Given the description of an element on the screen output the (x, y) to click on. 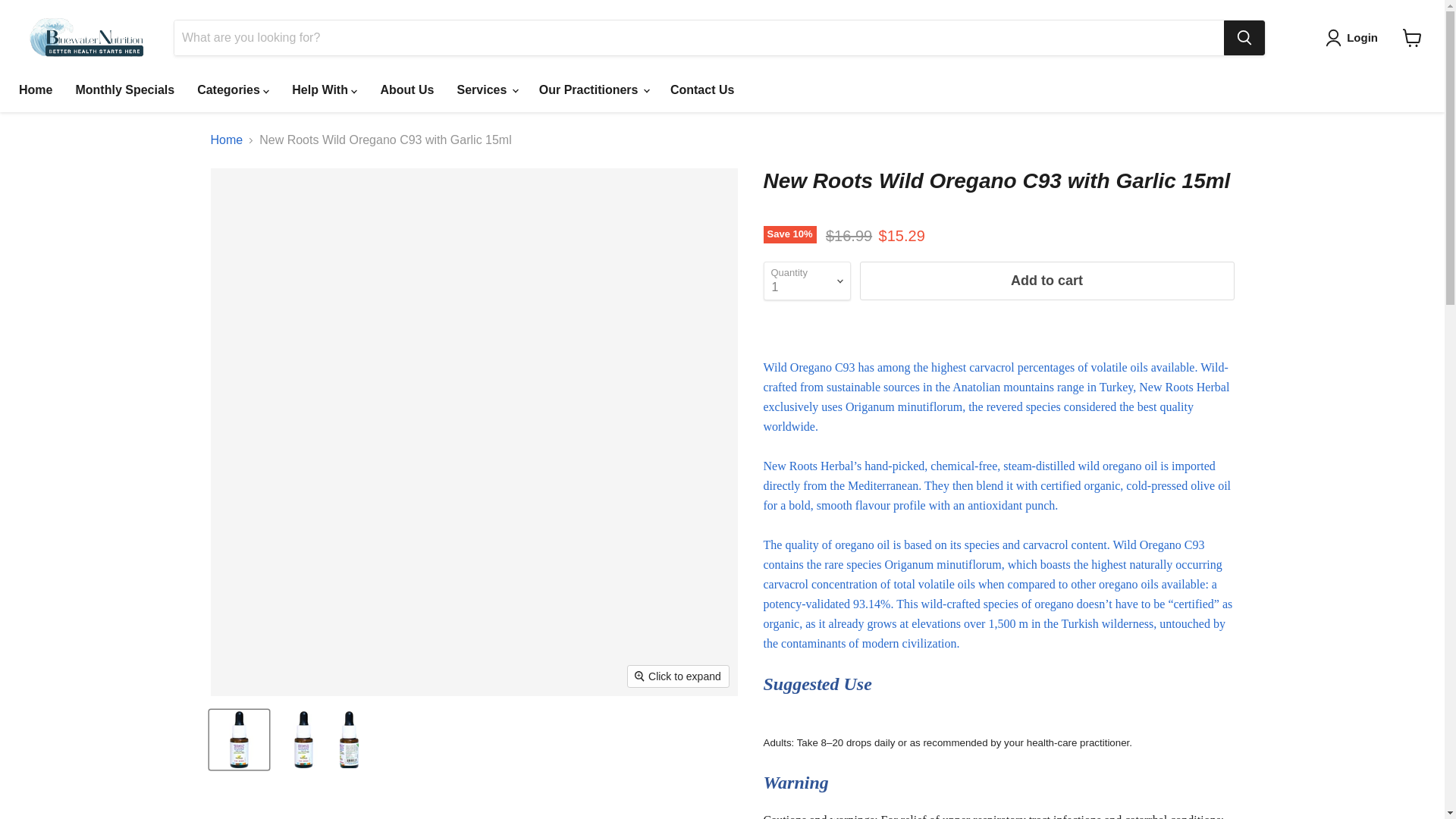
Login (1362, 37)
Home (35, 90)
View cart (1411, 37)
Monthly Specials (125, 90)
